Given the description of an element on the screen output the (x, y) to click on. 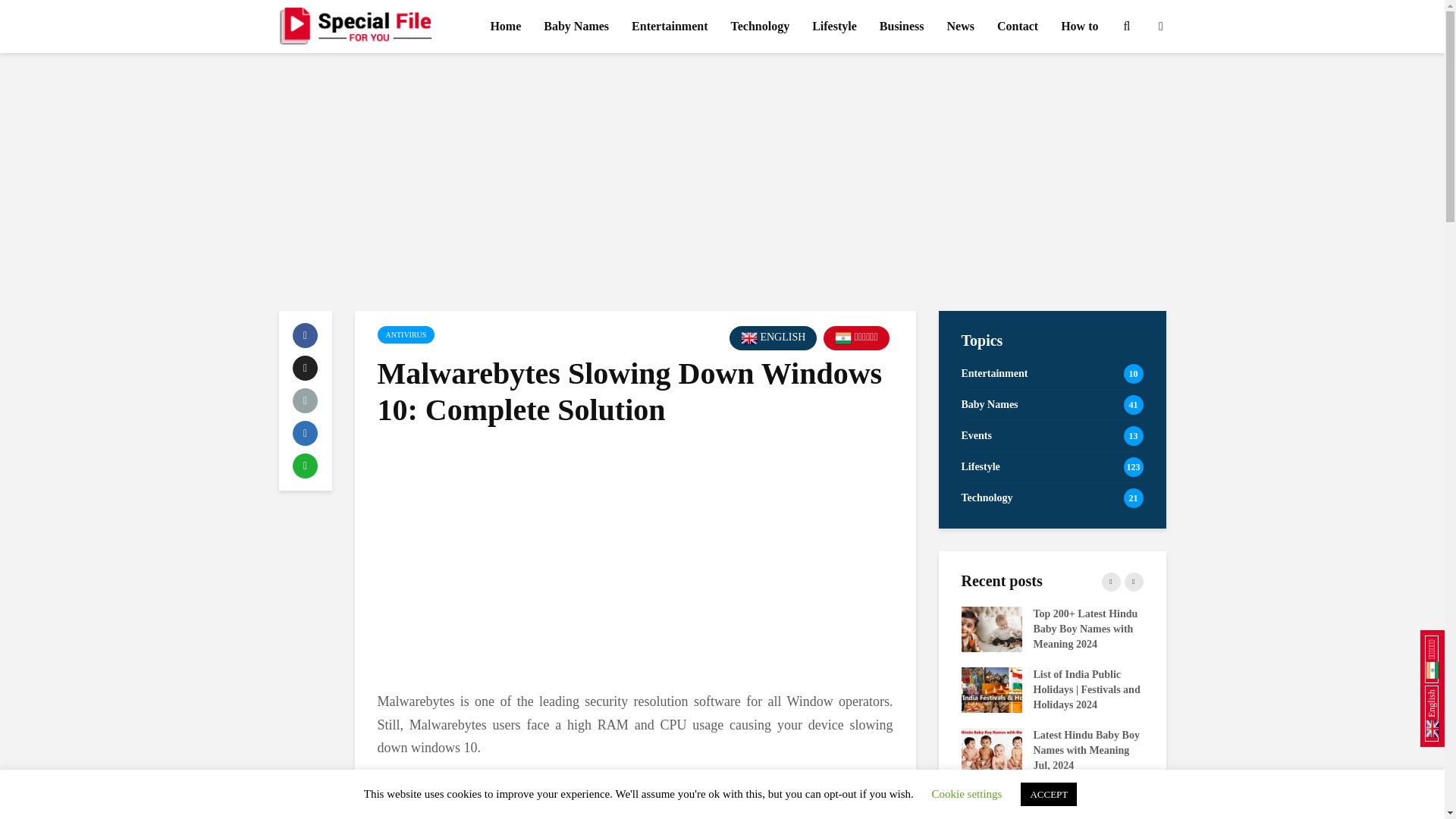
10 Best Religious and Spiritual Books (809, 688)
English (772, 337)
Technology (759, 26)
Lifestyle (833, 26)
Create UPI account without Debit Card (627, 627)
How to (1079, 26)
Entertainment (669, 26)
Contact (1017, 26)
Advertisement (635, 561)
Baby Names (576, 26)
Sleep Tips: 5 Ways to Better Sleep at Night (809, 627)
Business (901, 26)
Home (505, 26)
News (960, 26)
